Given the description of an element on the screen output the (x, y) to click on. 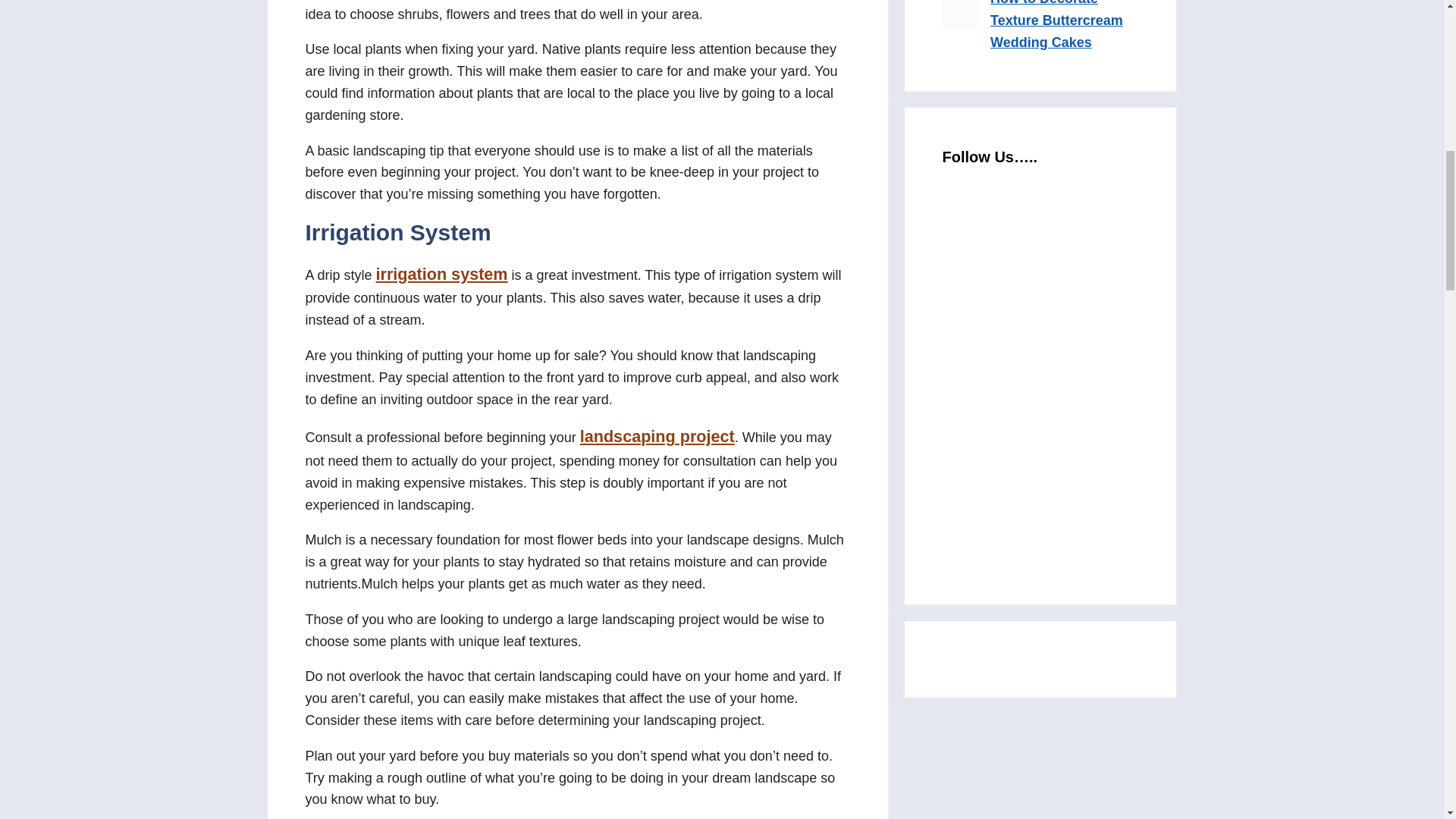
Email (1055, 247)
Facebook (1055, 375)
Pinterest (1055, 502)
